Given the description of an element on the screen output the (x, y) to click on. 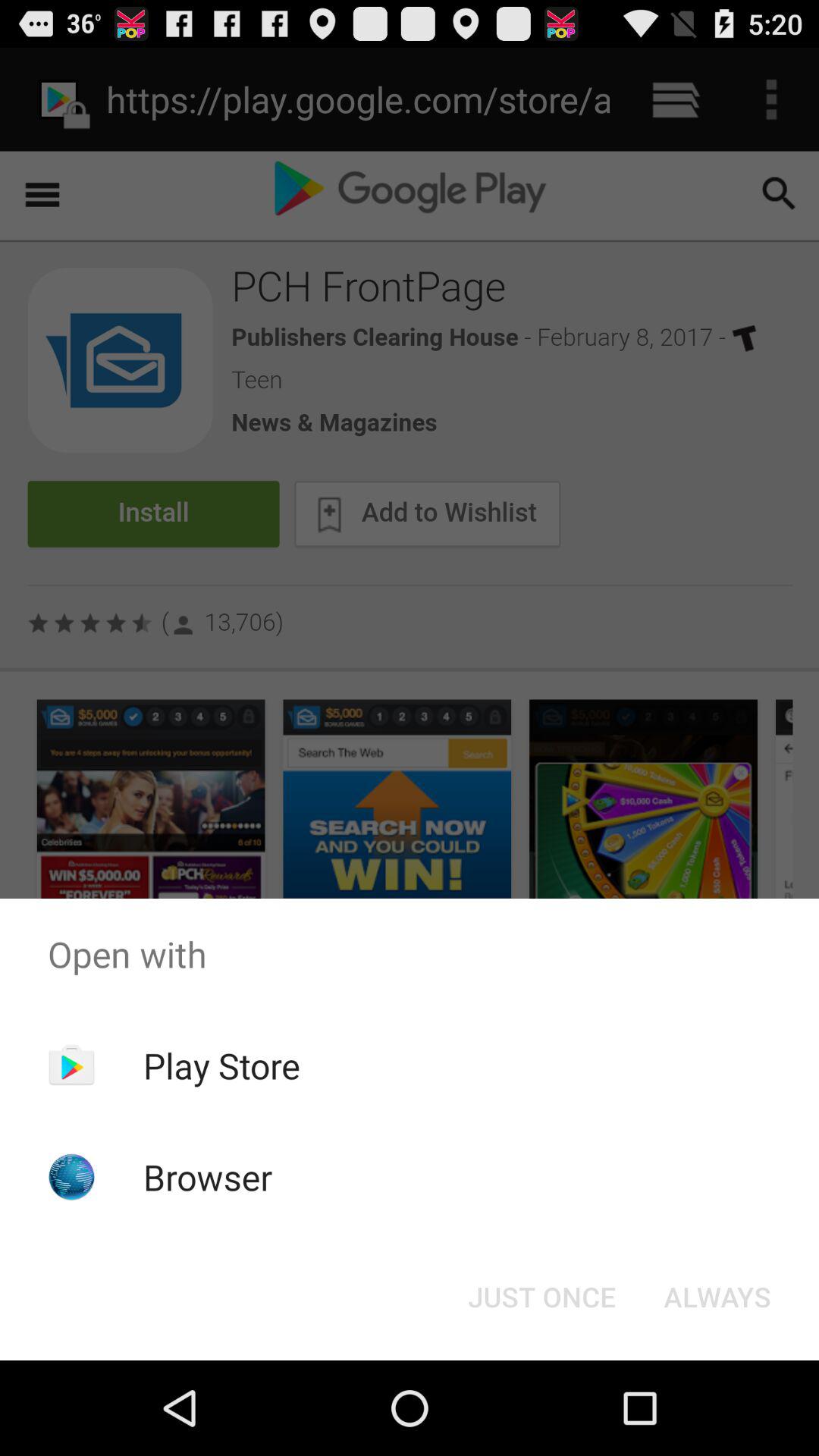
select icon to the left of always (541, 1296)
